Given the description of an element on the screen output the (x, y) to click on. 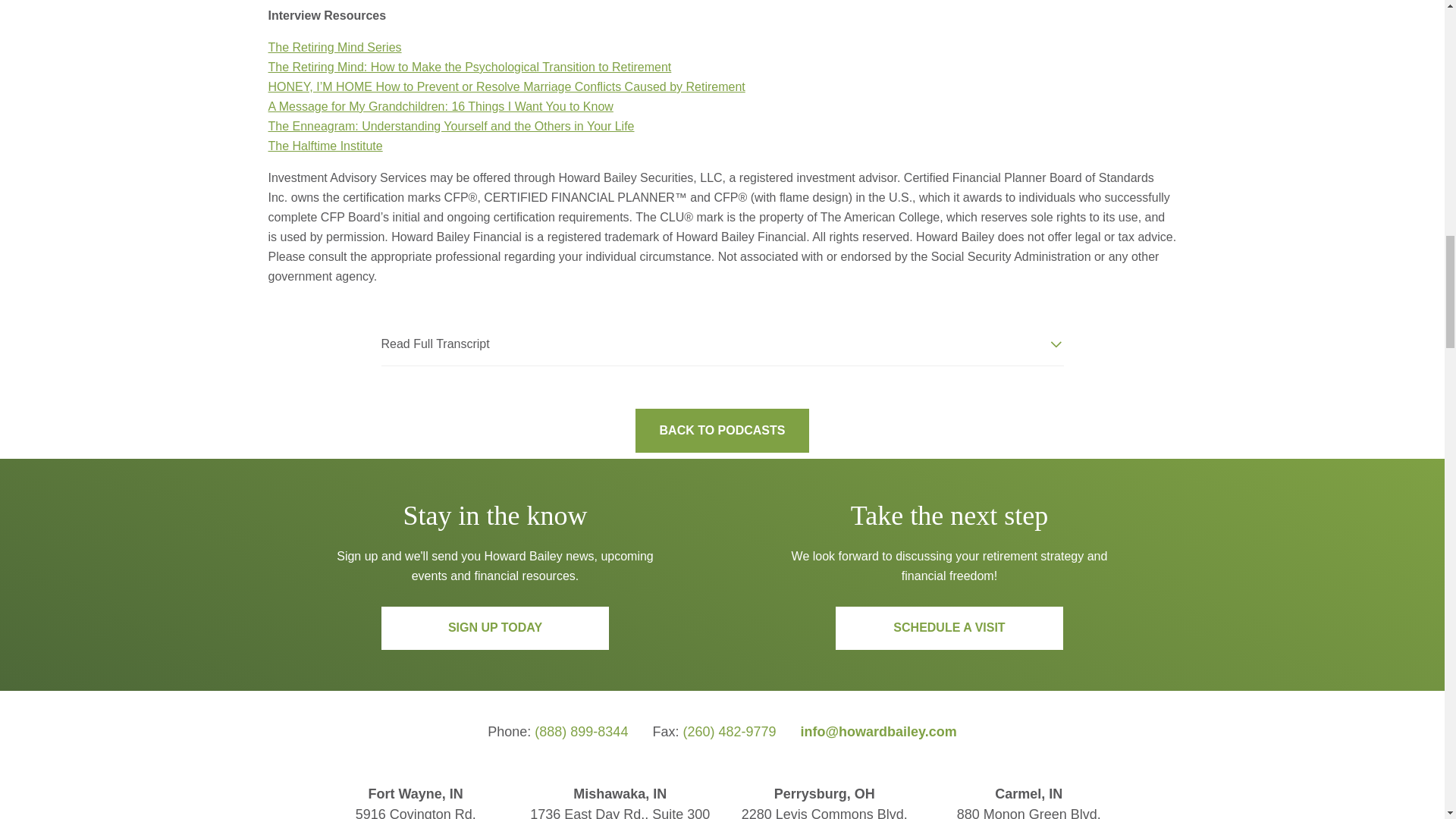
Read Full Transcript (721, 343)
